Given the description of an element on the screen output the (x, y) to click on. 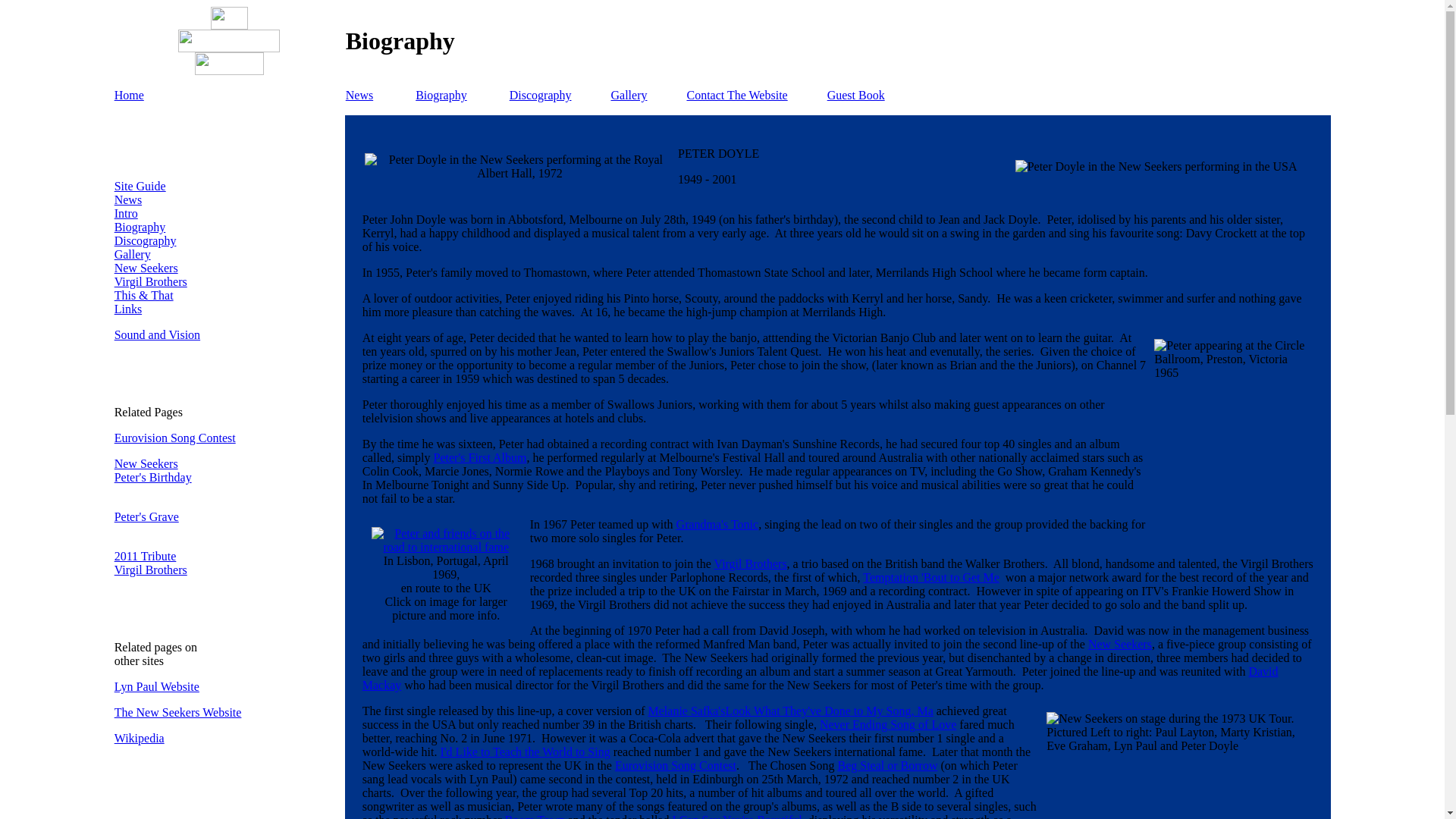
Never Ending Song of Love (887, 724)
Biography (440, 94)
New Seekers (146, 267)
Site Guide (140, 185)
2011 Tribute (145, 555)
Sound and Vision (157, 334)
Discography (540, 94)
I'd Like to Teach the World to Sing (524, 751)
News (128, 199)
David Mackay (820, 678)
Peter's First Album (480, 457)
Peter's Birthday (153, 483)
Contact The Website (736, 94)
Gallery (628, 94)
